Given the description of an element on the screen output the (x, y) to click on. 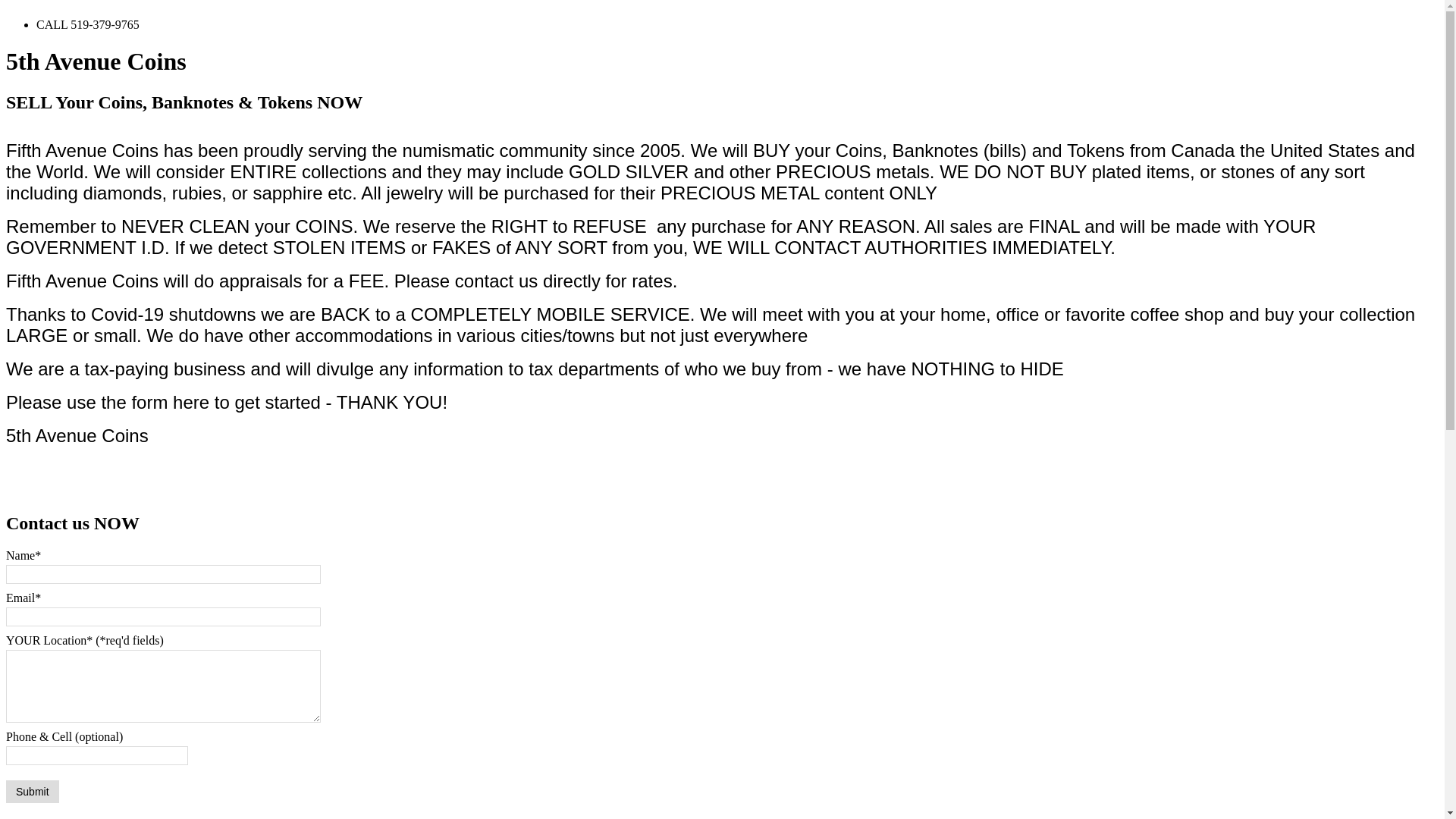
5th Avenue Coins Element type: text (96, 61)
CALL 519-379-9765 Element type: text (87, 24)
Submit Element type: text (32, 791)
